Given the description of an element on the screen output the (x, y) to click on. 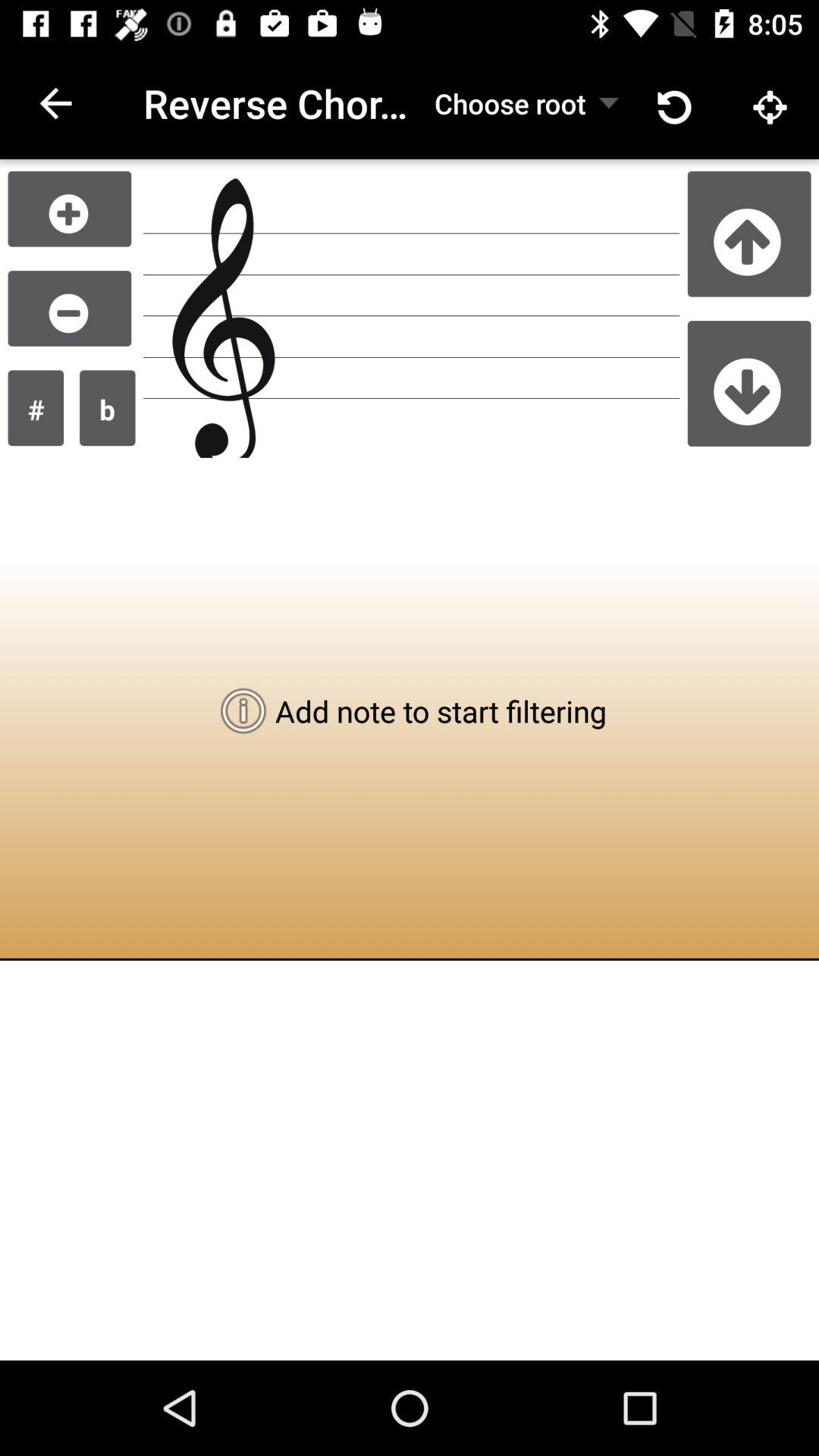
select icon next to the reverse chord lookup item (509, 103)
